Given the description of an element on the screen output the (x, y) to click on. 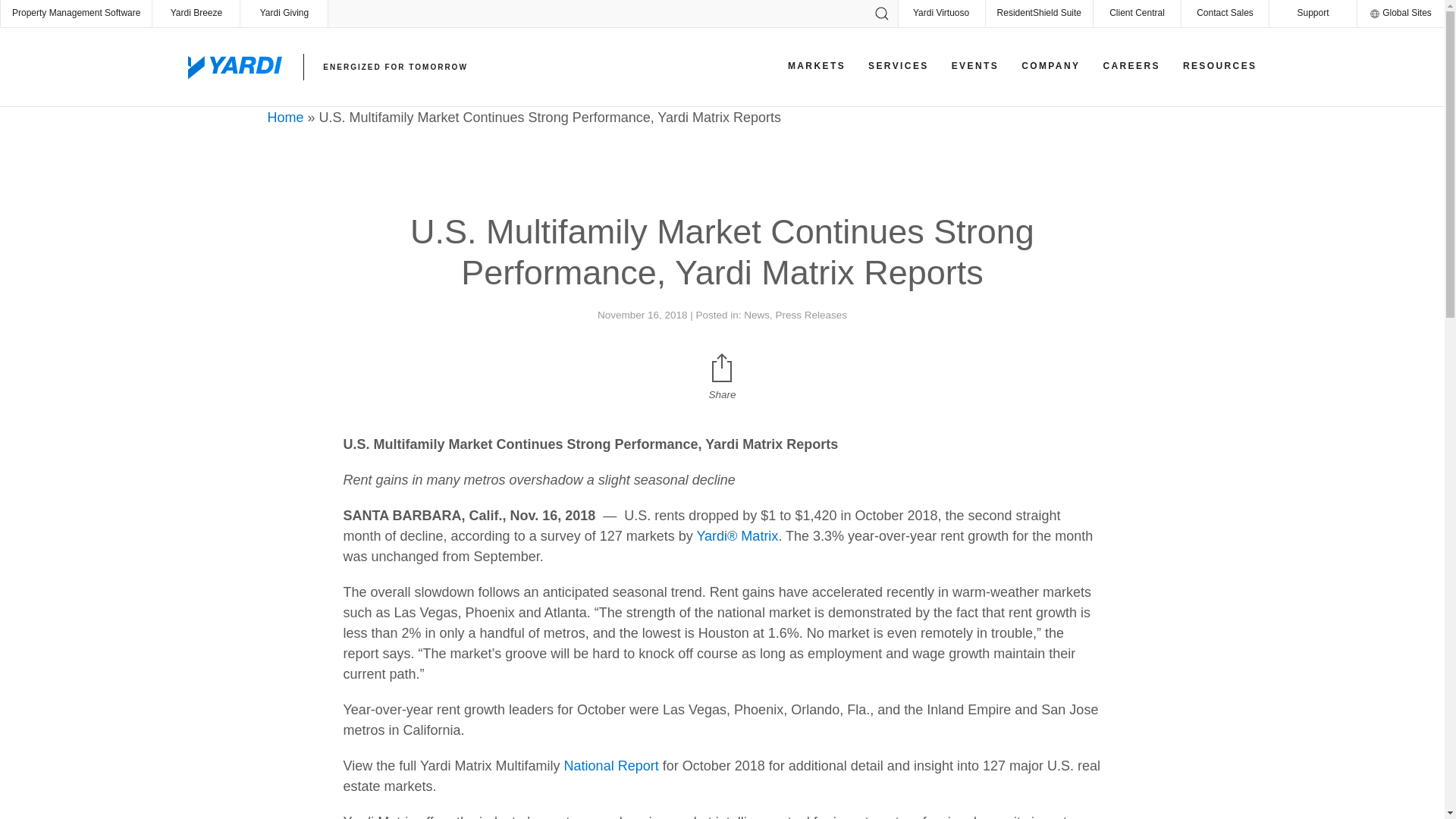
Yardi Breeze (196, 13)
Support (1312, 13)
Contact Sales (1224, 13)
MARKETS (816, 65)
SERVICES (898, 65)
View all posts in News (757, 315)
View all posts in Press Releases (811, 315)
Property Management Software (76, 13)
Client Central (1136, 13)
Yardi Virtuoso (941, 13)
